Given the description of an element on the screen output the (x, y) to click on. 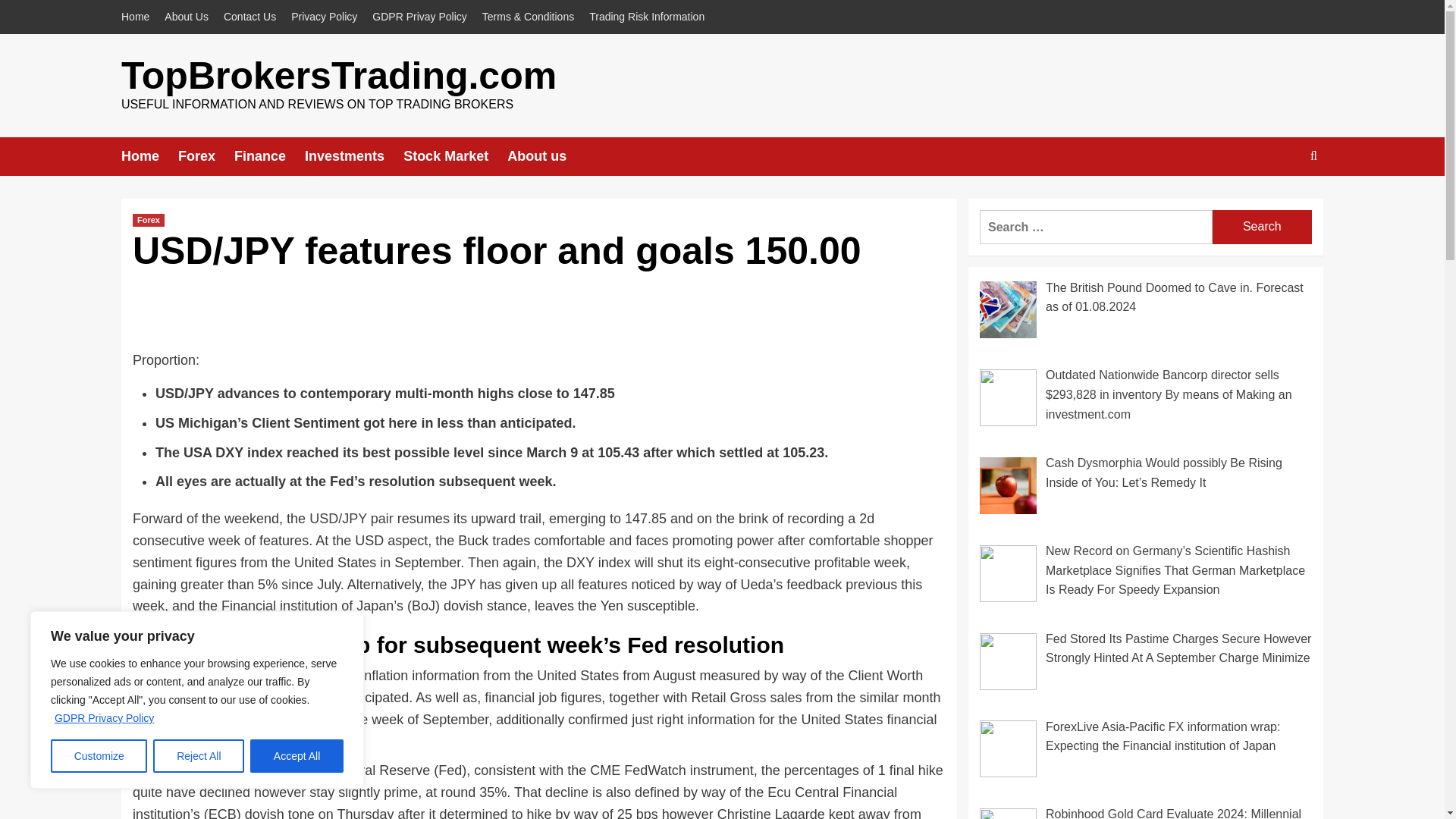
Trading Risk Information (645, 17)
Home (138, 17)
Search (1261, 226)
Forex (148, 219)
Contact Us (249, 17)
About us (545, 156)
Home (148, 156)
GDPR Privay Policy (419, 17)
Search (1261, 226)
Investments (353, 156)
